Given the description of an element on the screen output the (x, y) to click on. 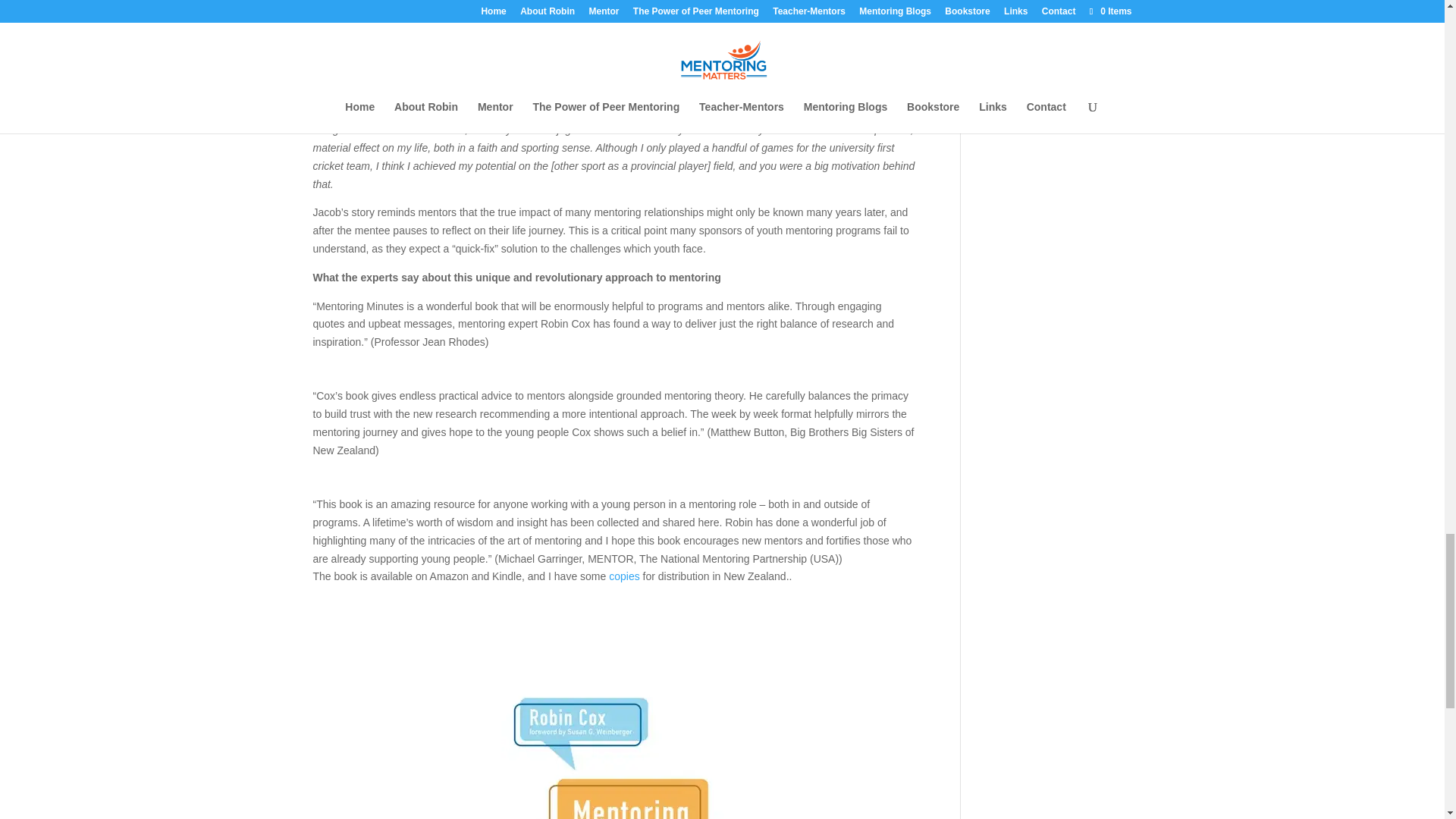
Mentoring Minutes (613, 739)
